Given the description of an element on the screen output the (x, y) to click on. 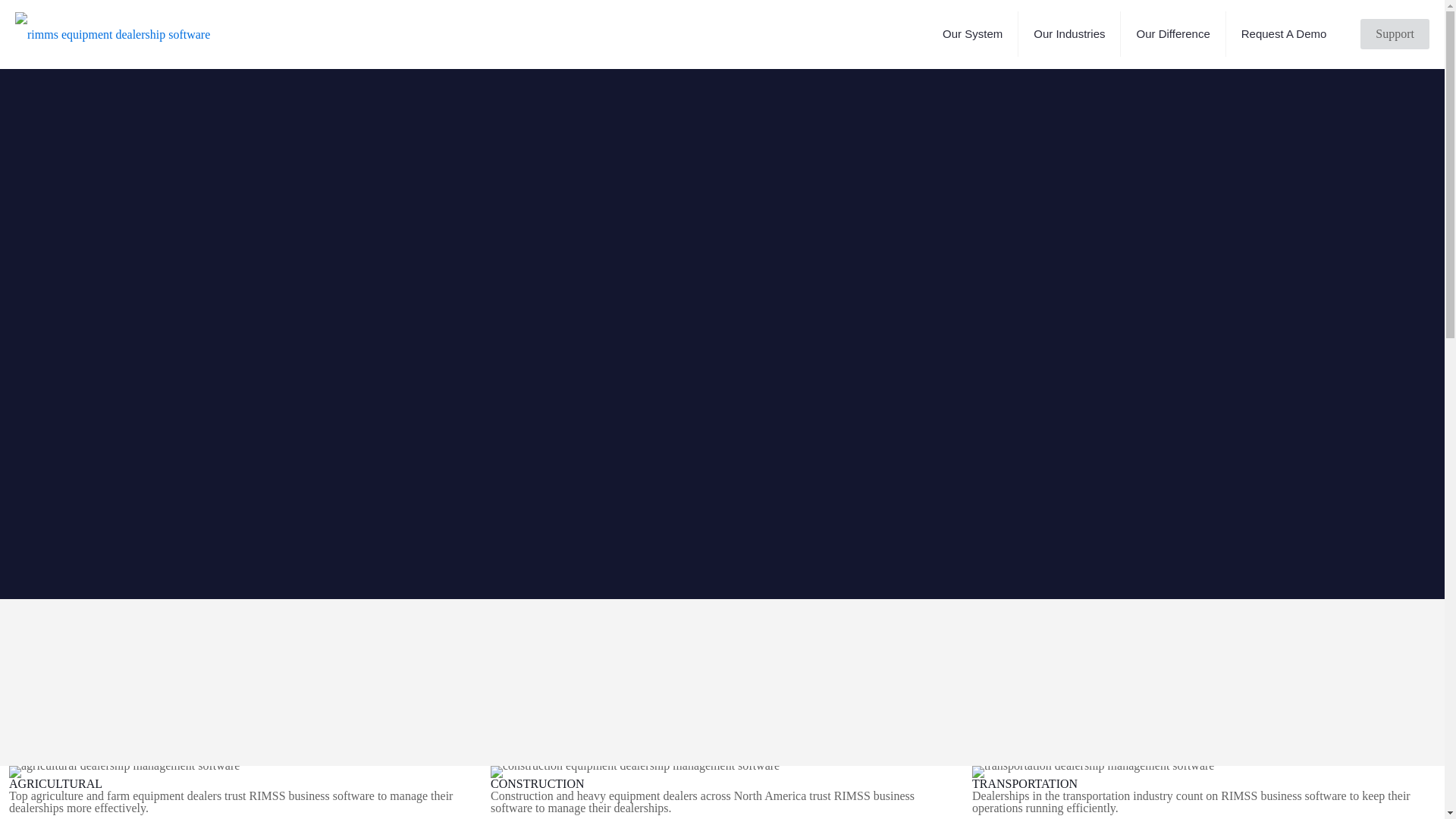
Support (1394, 33)
Request A Demo (1283, 33)
Our Difference (1173, 33)
Our System (972, 33)
Our Industries (1069, 33)
RIMSS (111, 33)
